Given the description of an element on the screen output the (x, y) to click on. 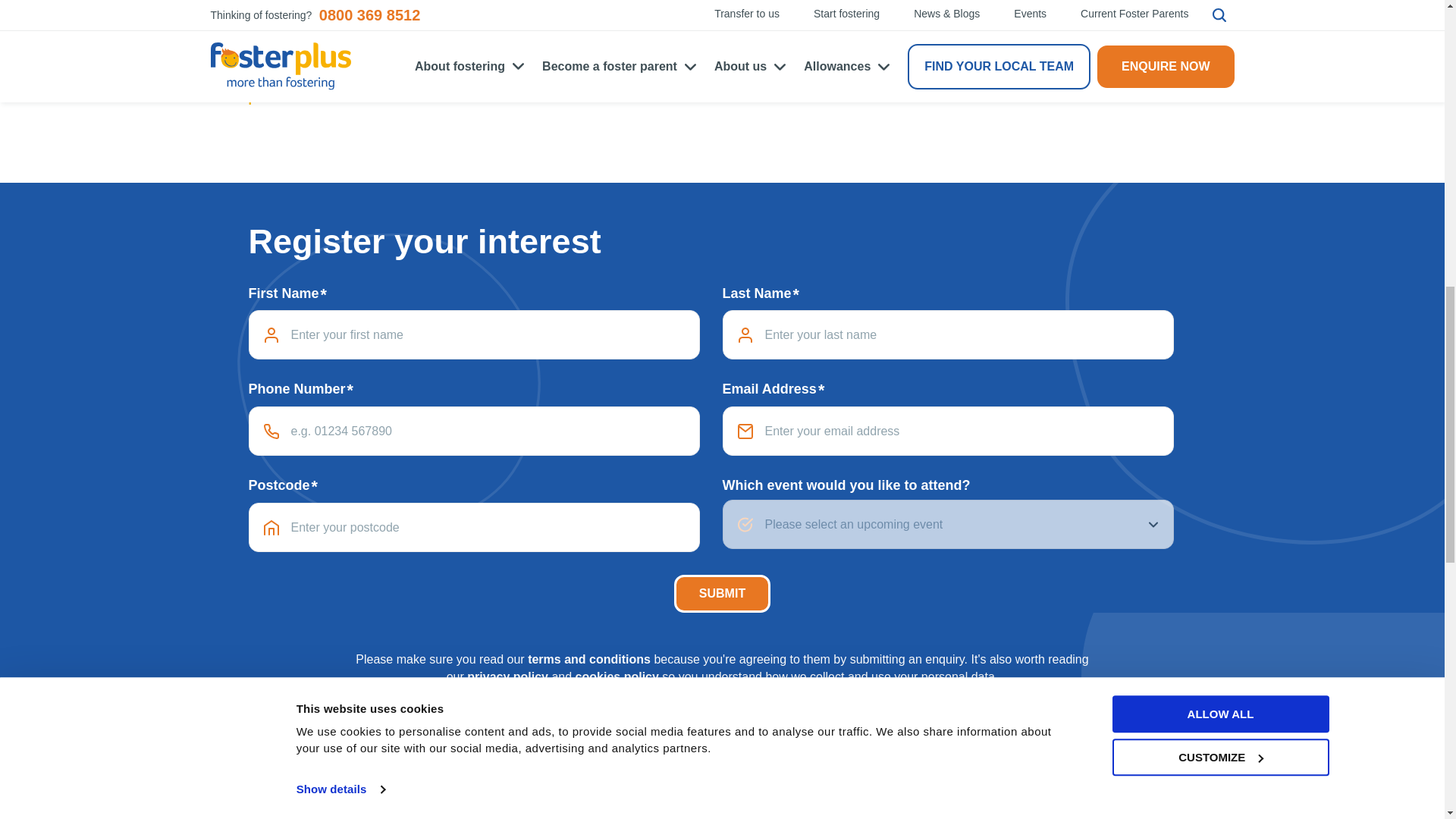
Submit (722, 593)
